Given the description of an element on the screen output the (x, y) to click on. 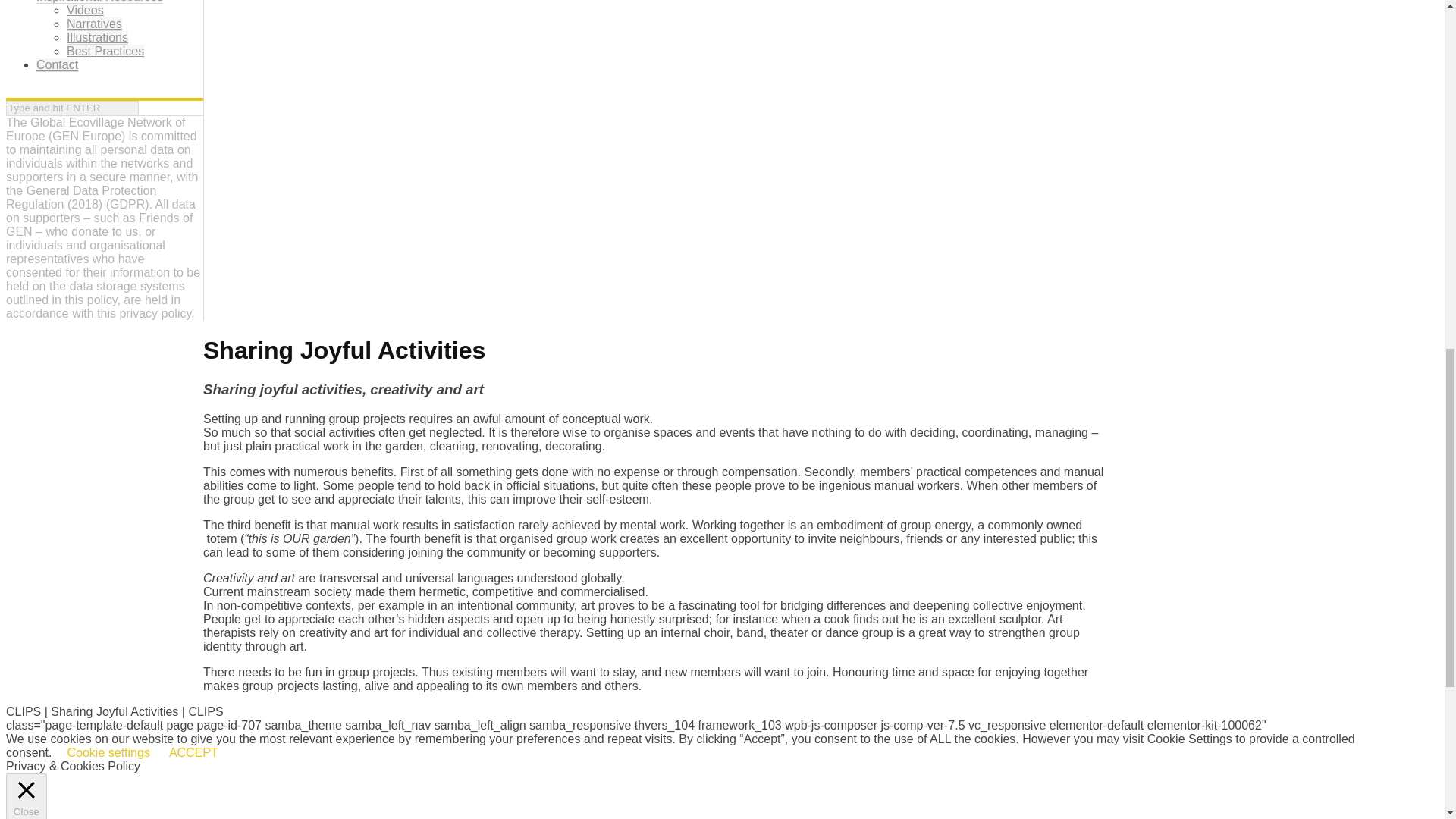
Cookie settings (107, 752)
Best Practices (105, 51)
Close (25, 796)
ACCEPT (193, 752)
Narratives (94, 24)
Inspirational Resources (99, 2)
Contact (57, 65)
Illustrations (97, 38)
Videos (84, 10)
